Given the description of an element on the screen output the (x, y) to click on. 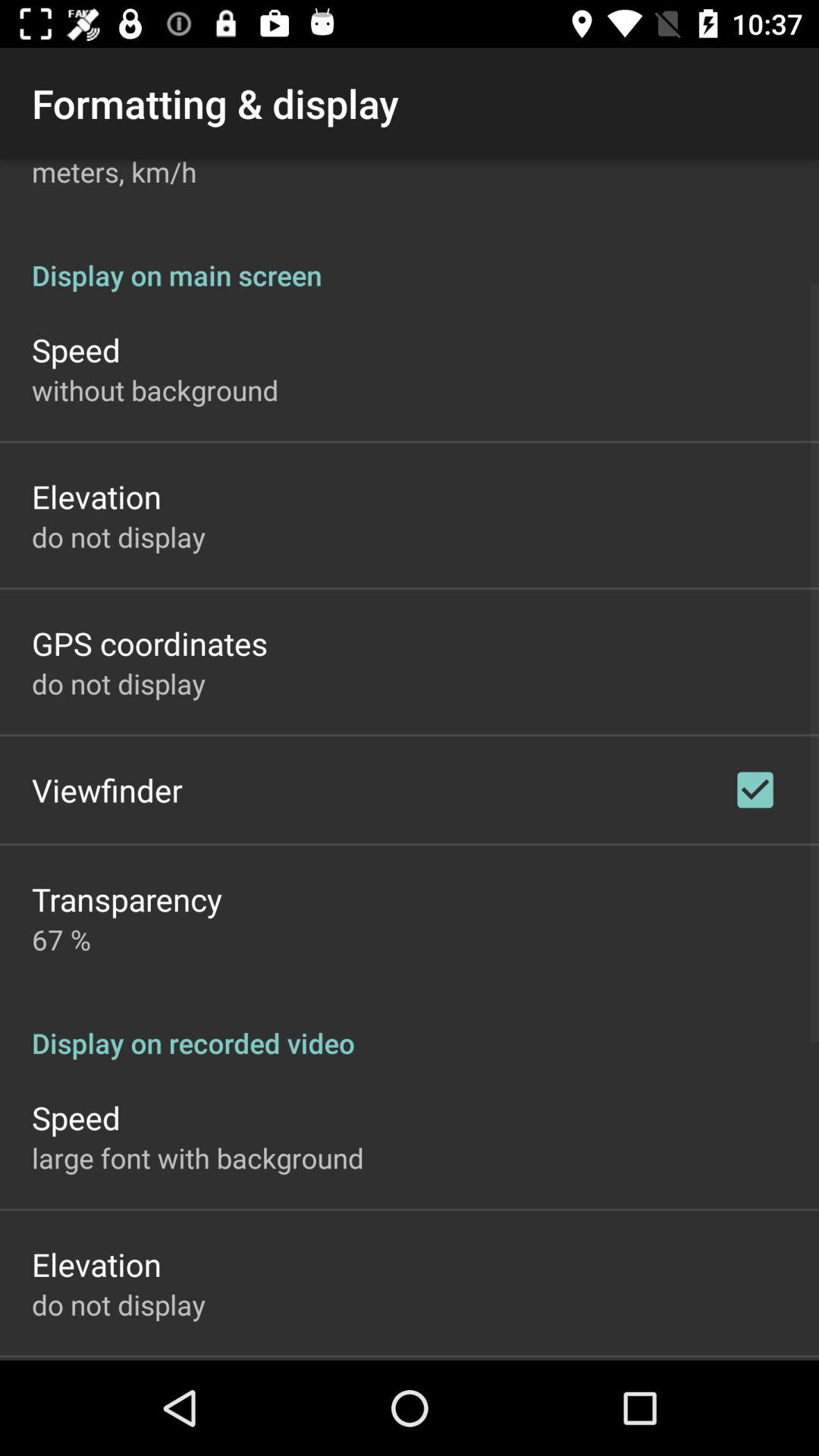
jump until the without background icon (154, 389)
